Given the description of an element on the screen output the (x, y) to click on. 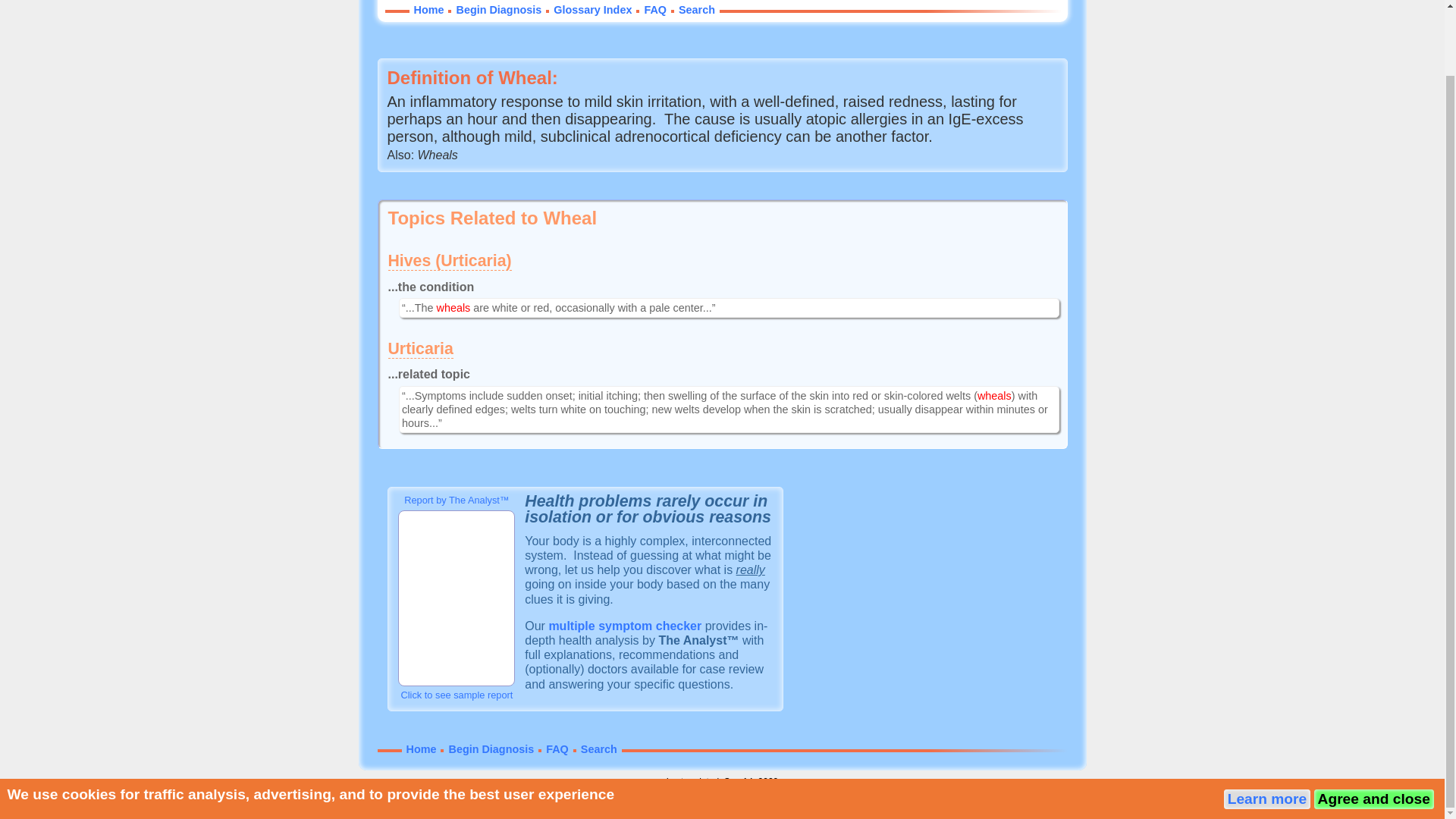
multiple symptom checker (624, 625)
FAQ (654, 9)
Home (421, 748)
Search (598, 748)
Glossary Index (592, 9)
Begin Diagnosis (491, 748)
Learn more (1267, 726)
Begin Symptom Entry (624, 625)
Search (696, 9)
Agree and close (1373, 726)
Urticaria (420, 348)
Home (428, 9)
FAQ (557, 748)
Begin Diagnosis (498, 9)
